Given the description of an element on the screen output the (x, y) to click on. 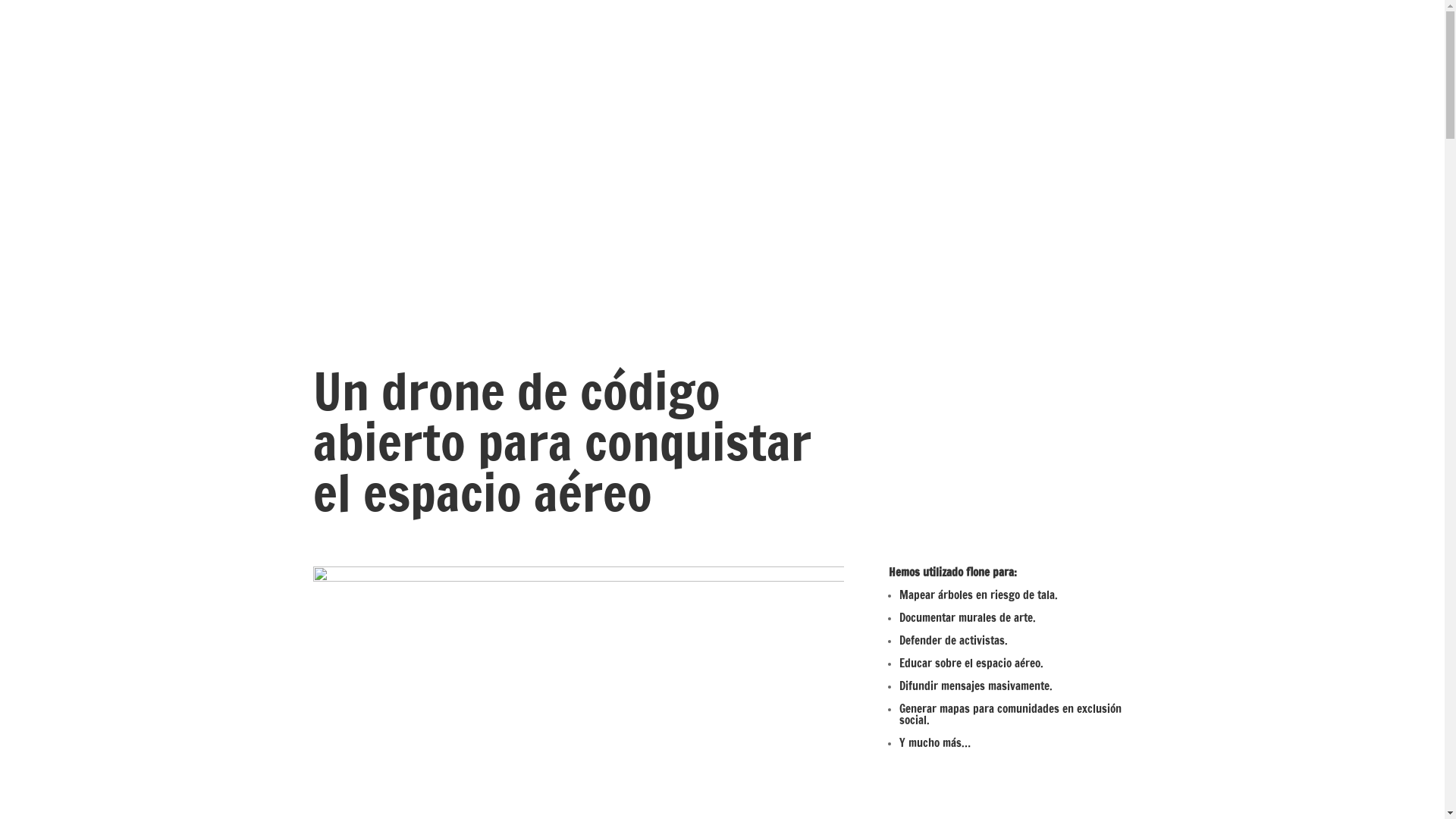
Hazlo tu mismo Element type: text (722, 223)
